Given the description of an element on the screen output the (x, y) to click on. 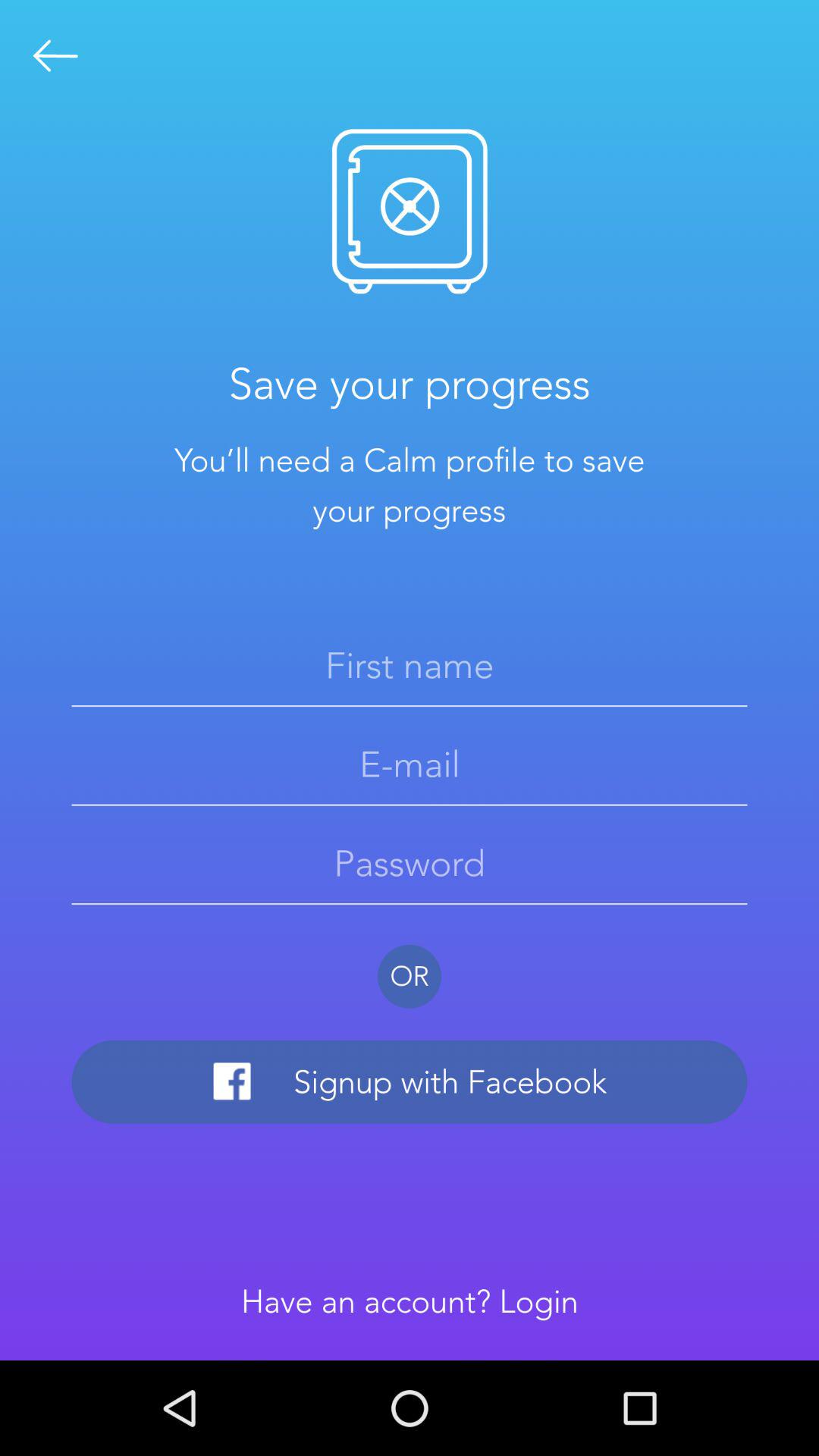
name information (409, 664)
